Given the description of an element on the screen output the (x, y) to click on. 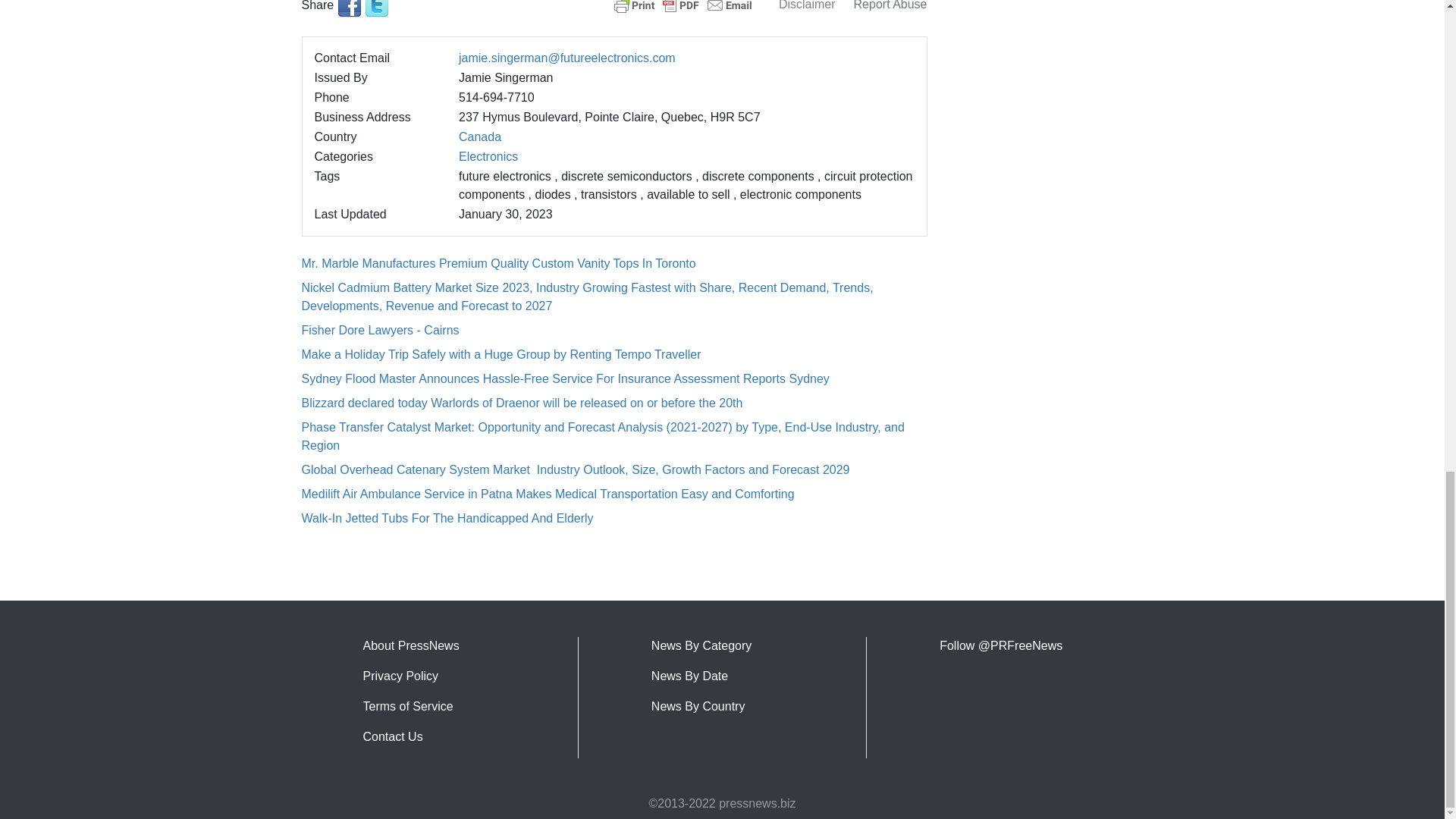
Electronics (488, 155)
Privacy Policy (400, 675)
Canada (479, 136)
Report Abuse (890, 5)
Disclaimer (806, 5)
About PressNews (410, 645)
